Given the description of an element on the screen output the (x, y) to click on. 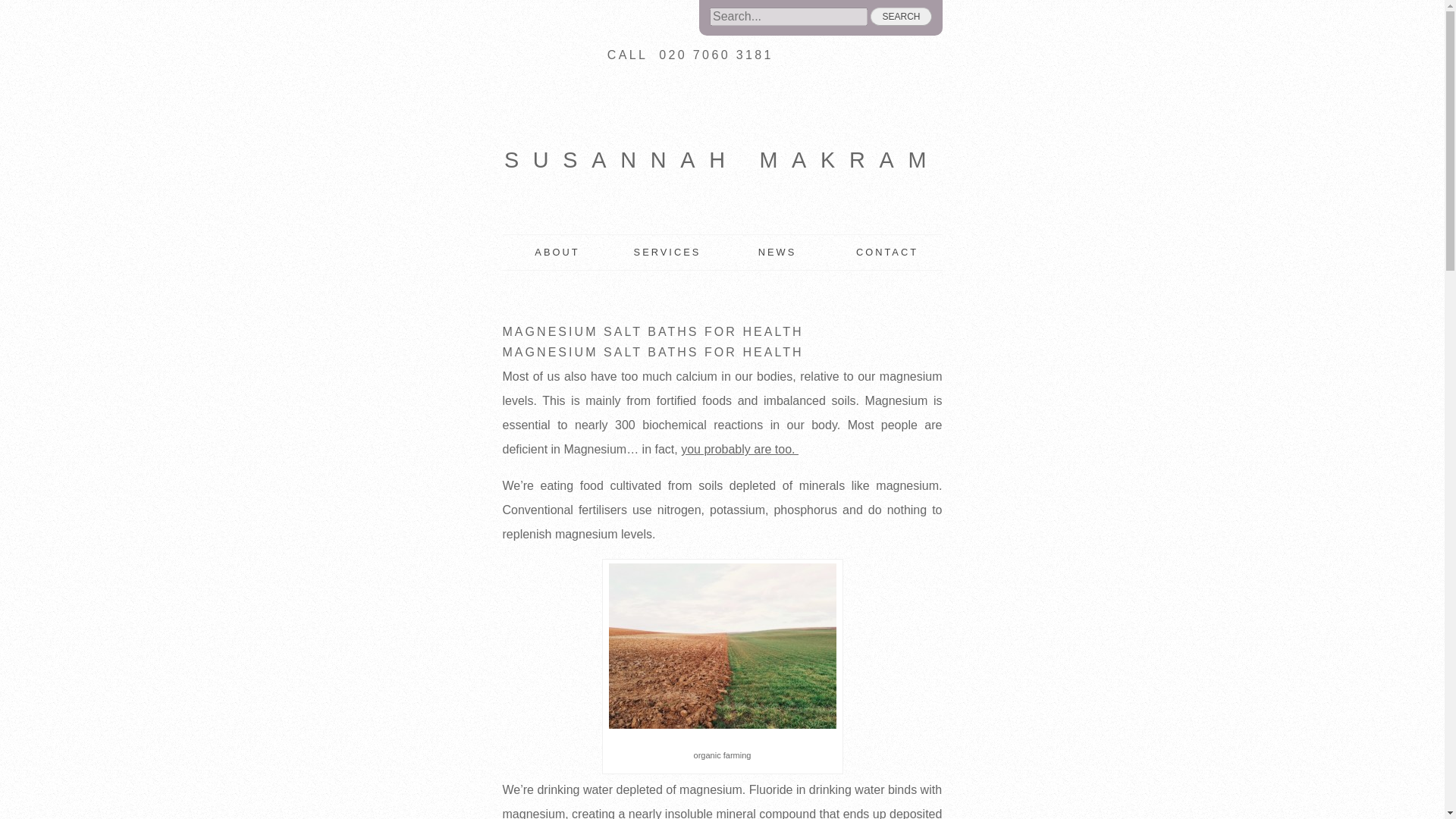
you probably are too.  (739, 449)
SERVICES (667, 252)
Search (900, 16)
NEWS (776, 252)
CONTACT (887, 252)
Search (900, 16)
SUSANNAH MAKRAM (722, 157)
020 7060 3181 (716, 54)
ABOUT (556, 252)
